Given the description of an element on the screen output the (x, y) to click on. 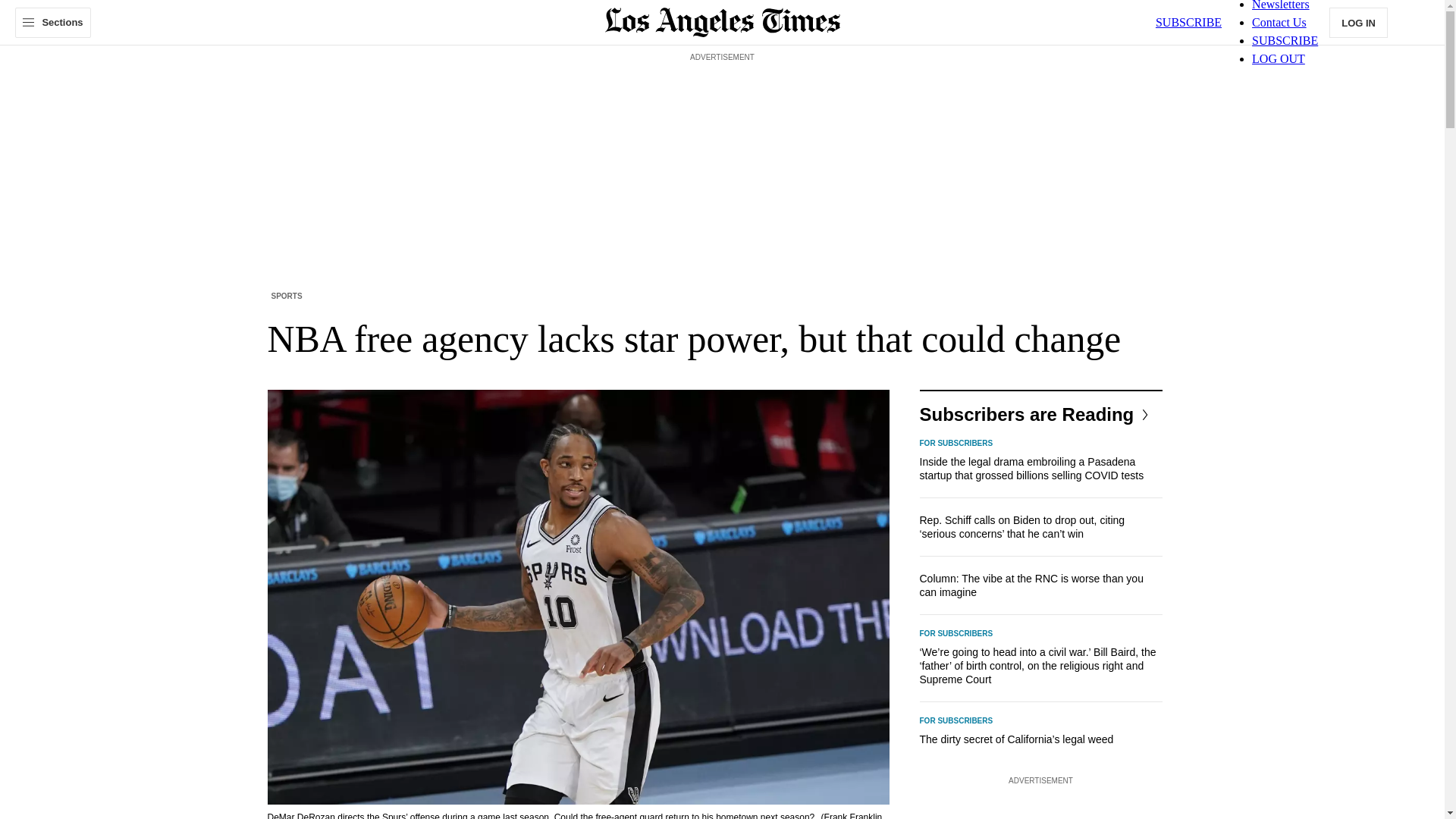
3rd party ad content (1040, 804)
3rd party ad content (722, 100)
